Given the description of an element on the screen output the (x, y) to click on. 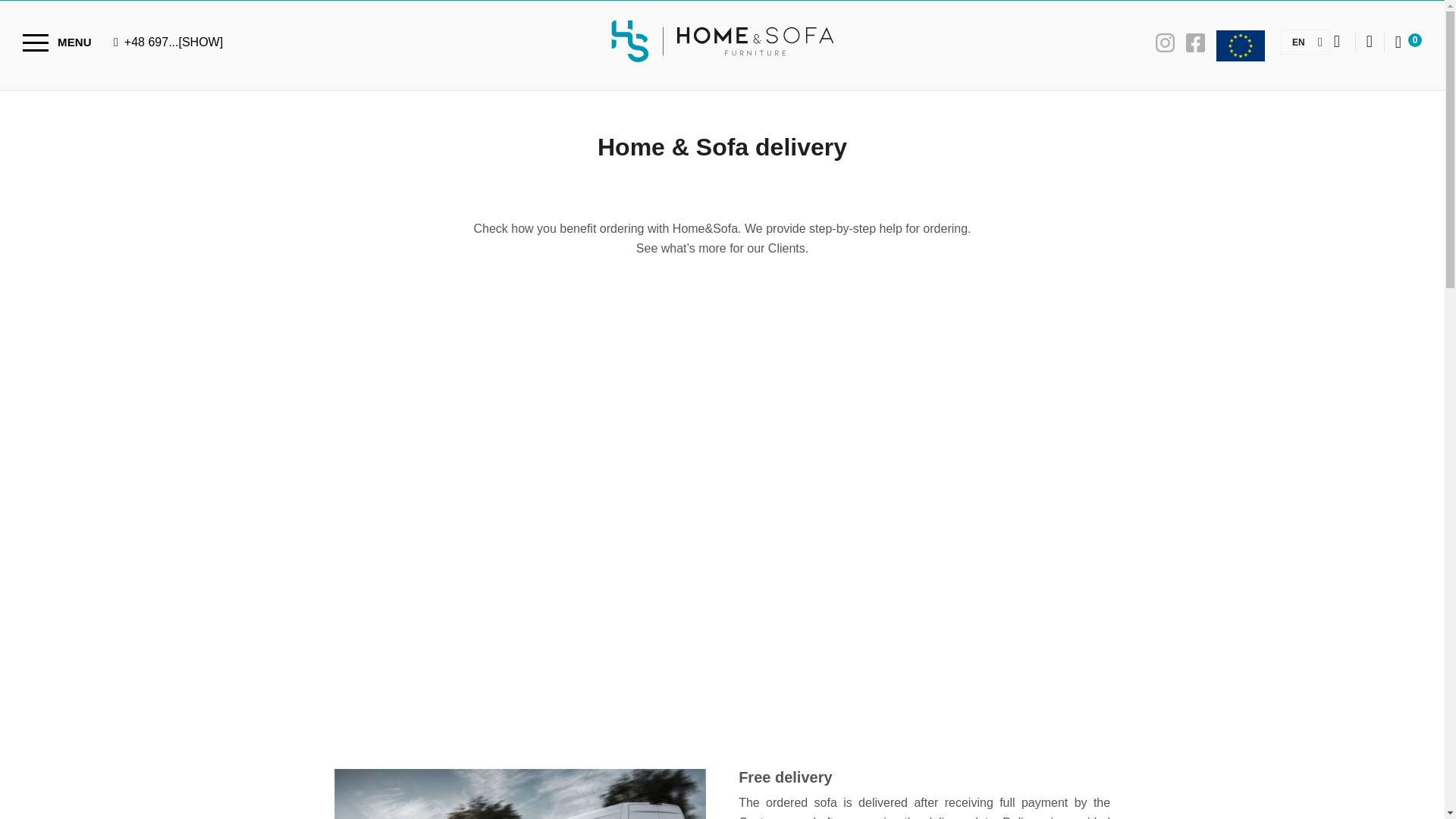
EN (1298, 41)
Language (1298, 41)
